Given the description of an element on the screen output the (x, y) to click on. 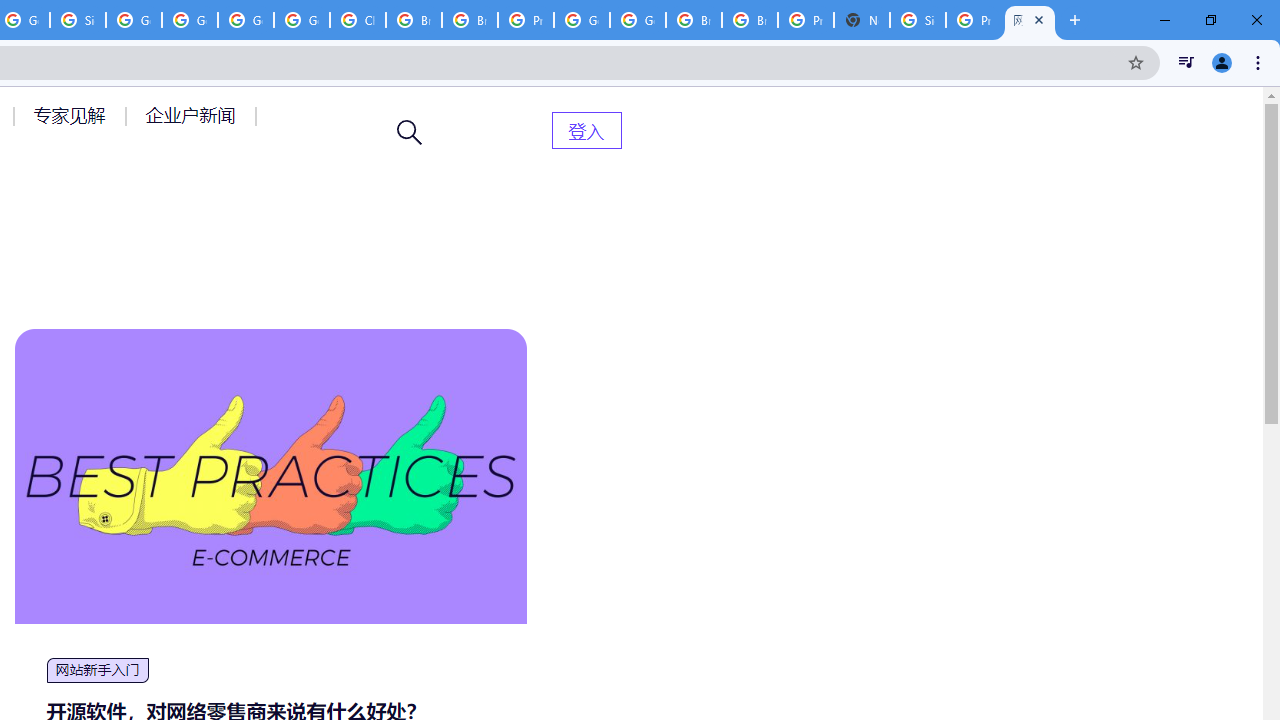
Google Cloud Platform (245, 20)
New Tab (861, 20)
Sign in - Google Accounts (917, 20)
Open search form (410, 132)
AutomationID: menu-item-77765 (194, 115)
Browse Chrome as a guest - Computer - Google Chrome Help (413, 20)
